Given the description of an element on the screen output the (x, y) to click on. 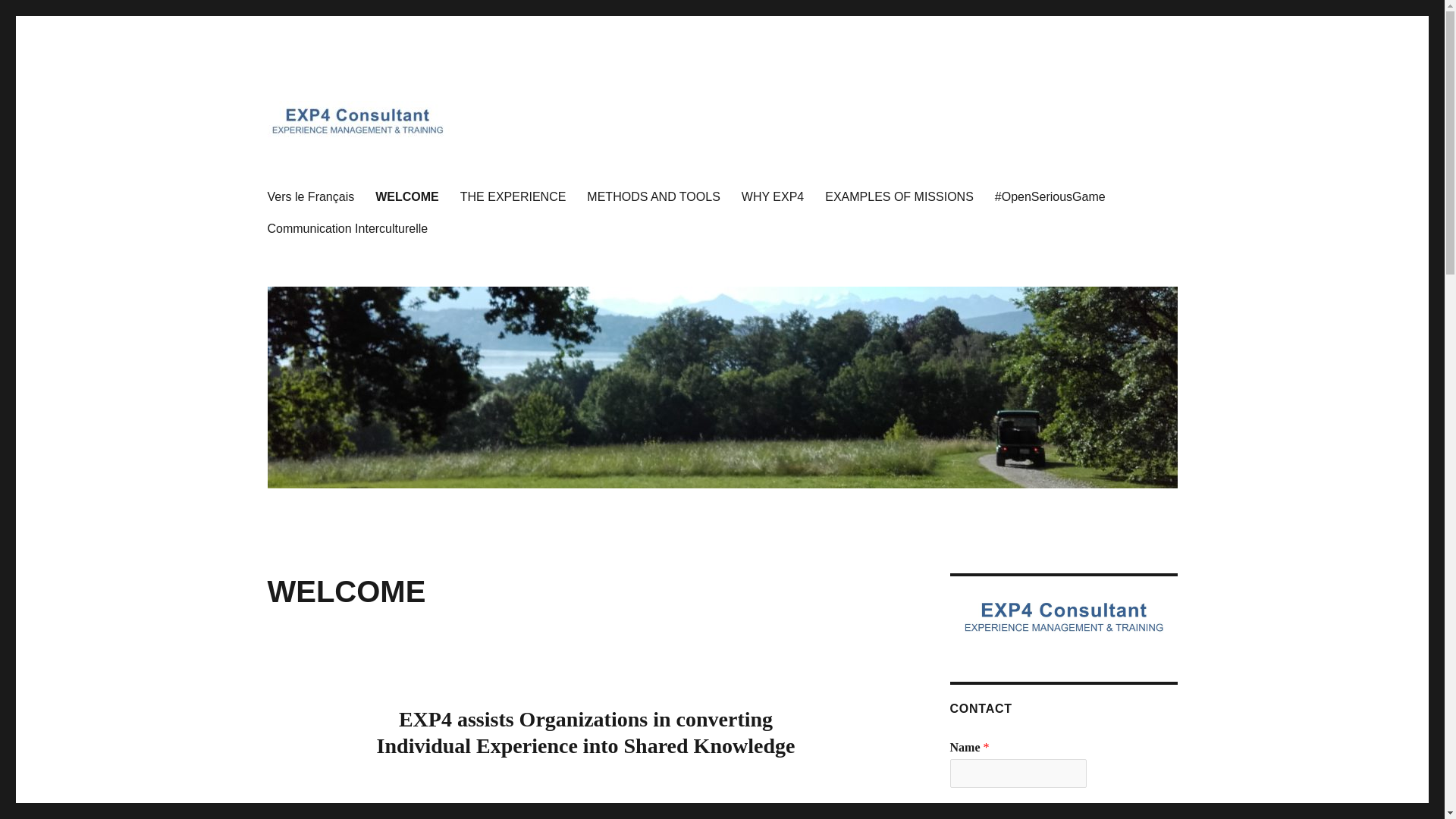
Communication Interculturelle (347, 228)
WHY EXP4 (771, 196)
WELCOME (407, 196)
THE EXPERIENCE (512, 196)
METHODS AND TOOLS (653, 196)
EXAMPLES OF MISSIONS (898, 196)
